Given the description of an element on the screen output the (x, y) to click on. 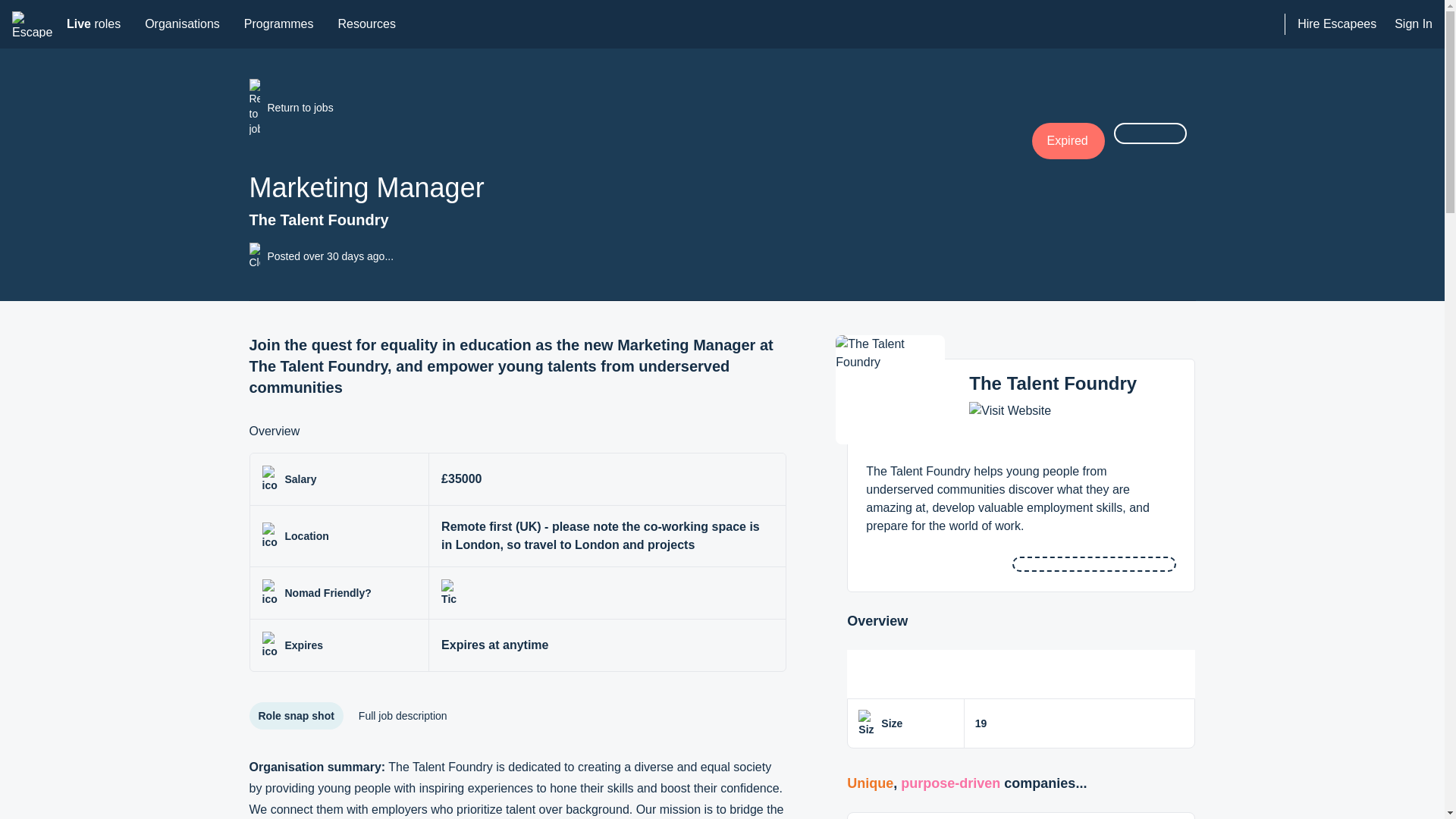
Organisations (181, 24)
Hire Escapees (93, 24)
Return to jobs (1336, 24)
The Talent Foundry (639, 107)
Programmes (1053, 383)
Escape the City (278, 24)
Resources (33, 23)
